Given the description of an element on the screen output the (x, y) to click on. 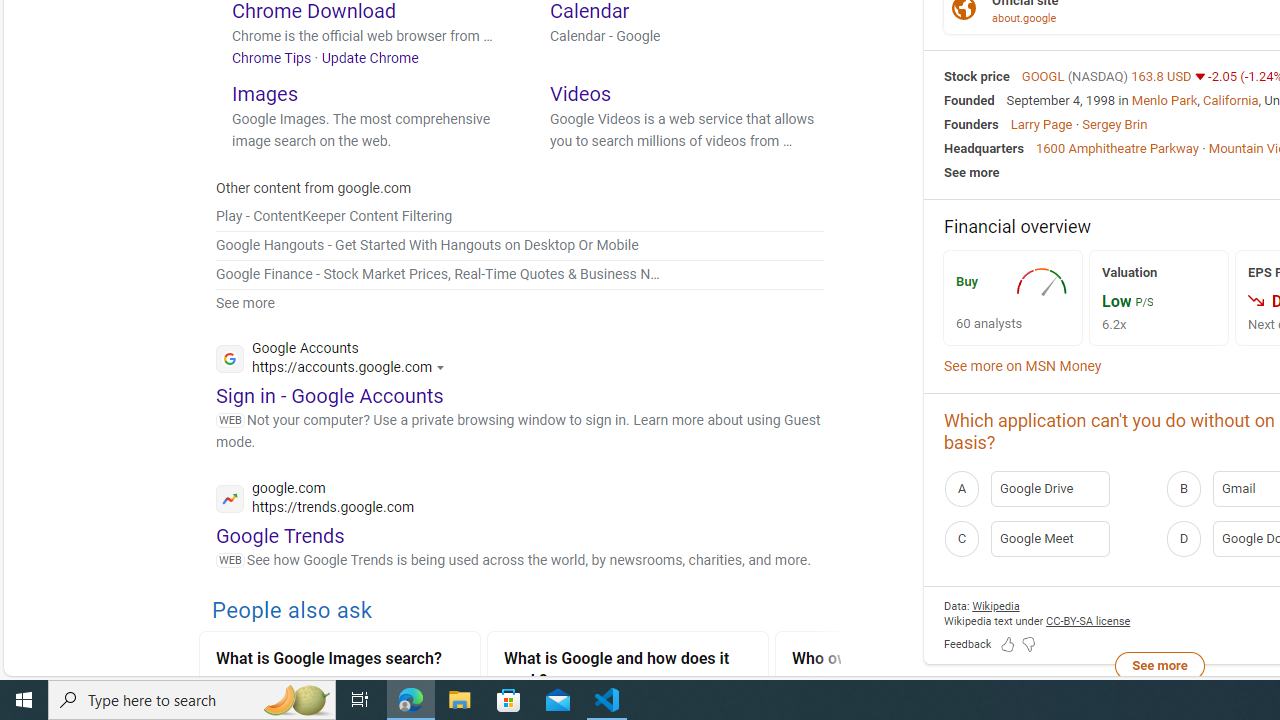
Founders (971, 123)
Chrome Tips (271, 57)
